Given the description of an element on the screen output the (x, y) to click on. 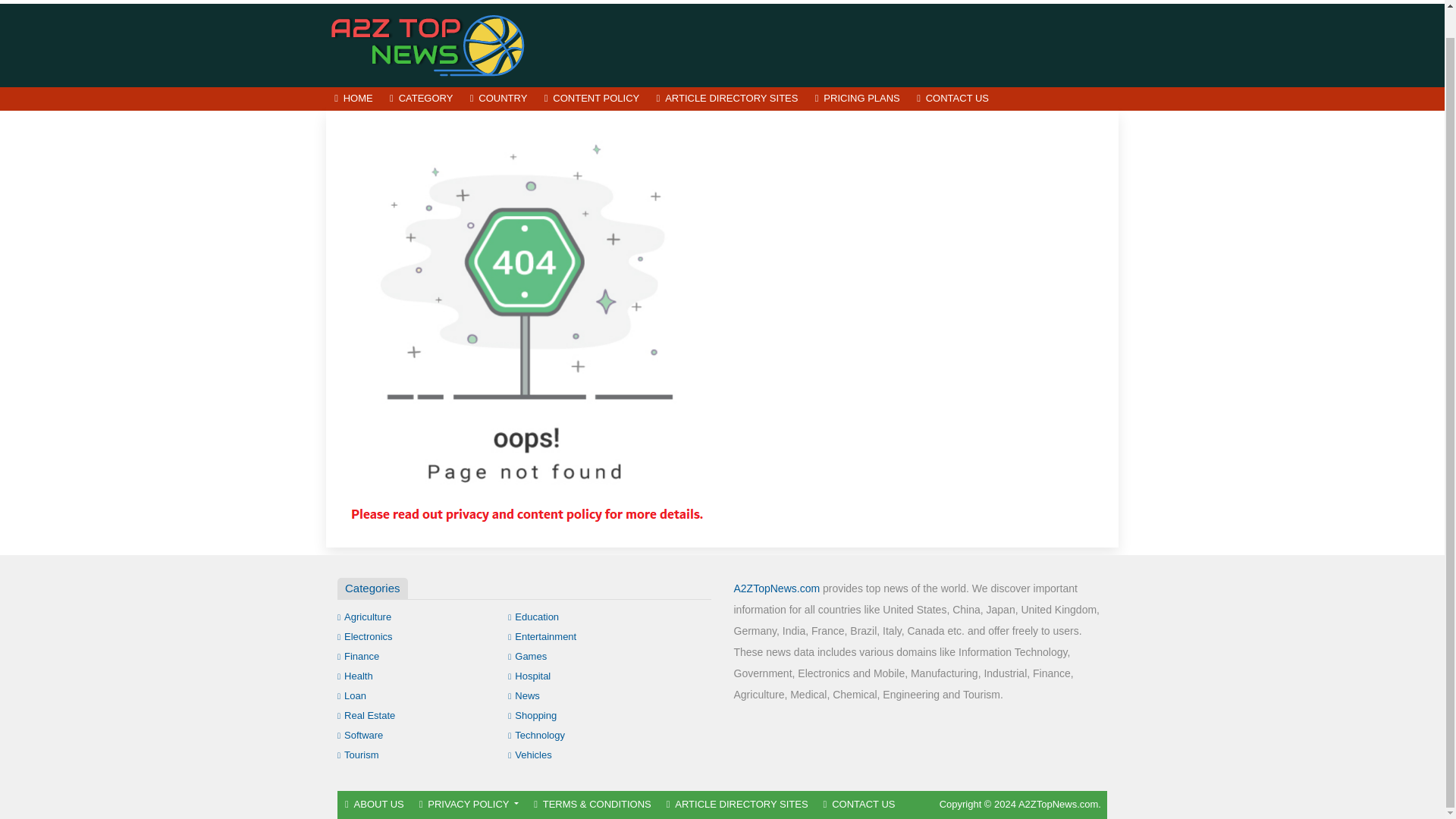
PRICING PLANS (857, 98)
A2ZTopNews.com (777, 588)
HOME (353, 98)
Vehicles (529, 754)
CATEGORY (421, 98)
Education (533, 616)
Technology (536, 735)
Agriculture (364, 616)
Loan (351, 695)
Software (359, 735)
Discover Top Data of The World and Global News Research (428, 43)
Health (354, 675)
Real Estate (365, 715)
Games (527, 655)
Shopping (532, 715)
